Given the description of an element on the screen output the (x, y) to click on. 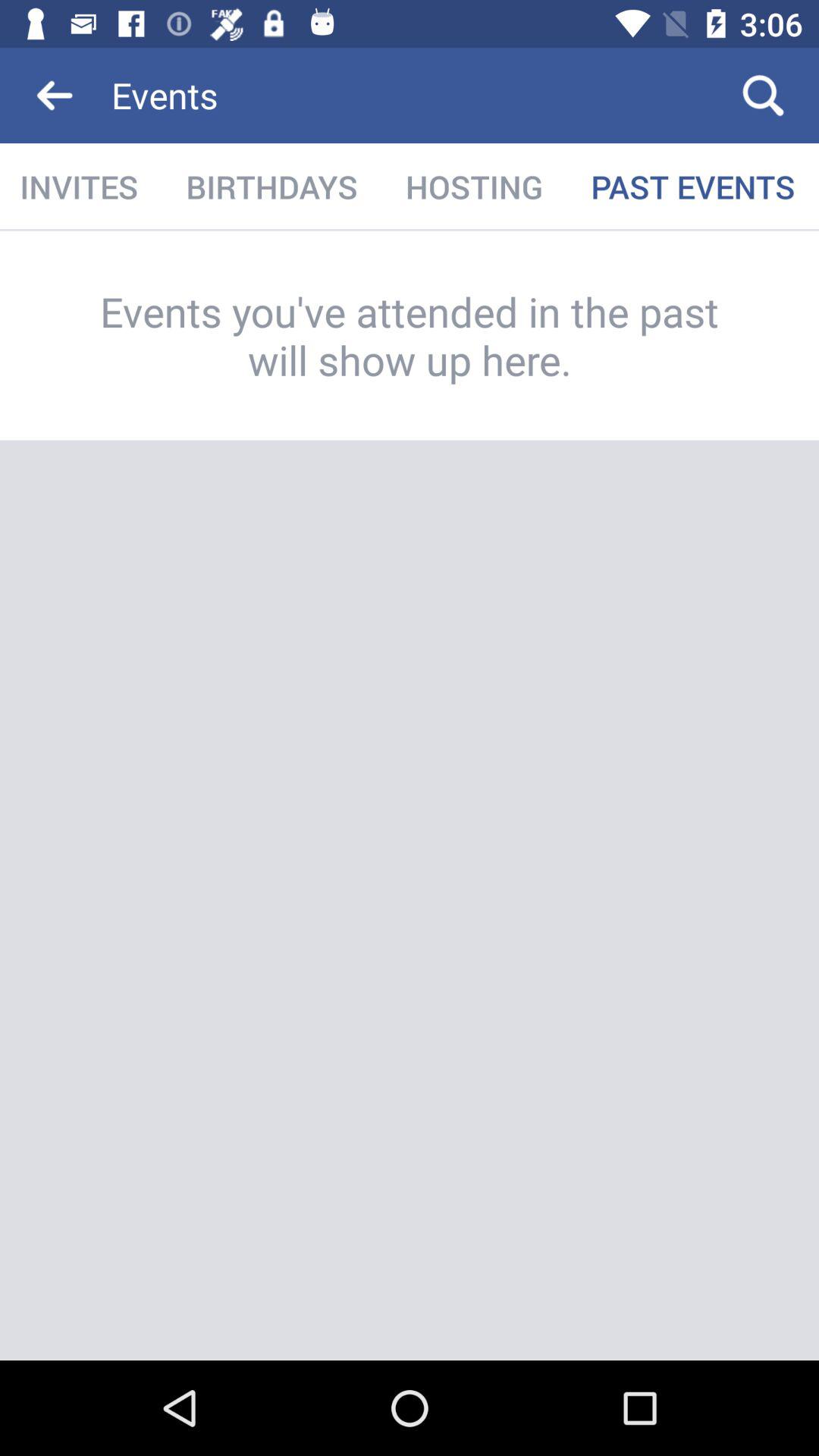
press the item next to hosting item (271, 186)
